Given the description of an element on the screen output the (x, y) to click on. 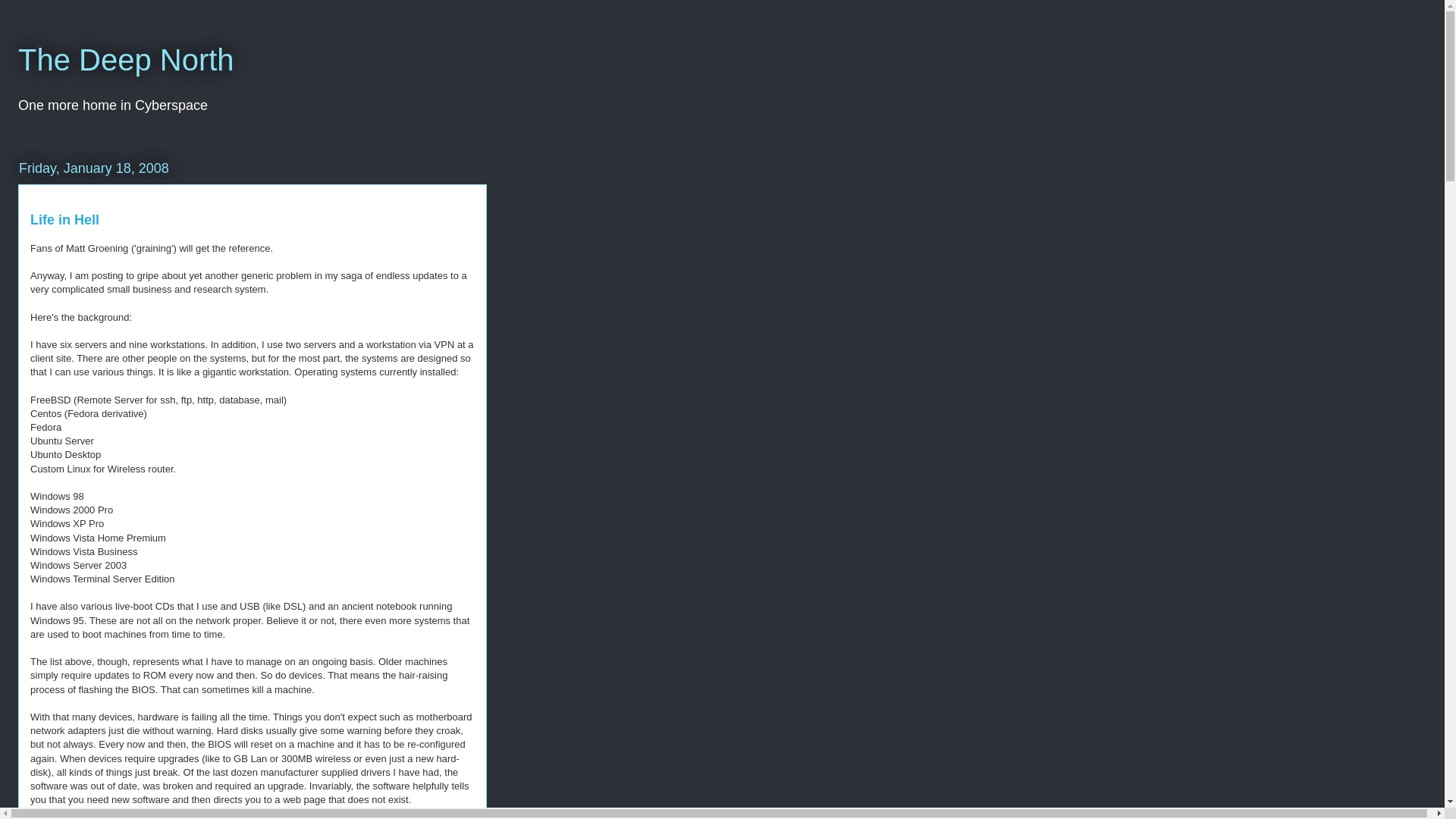
The Deep North (125, 59)
Life in Hell (64, 219)
